Given the description of an element on the screen output the (x, y) to click on. 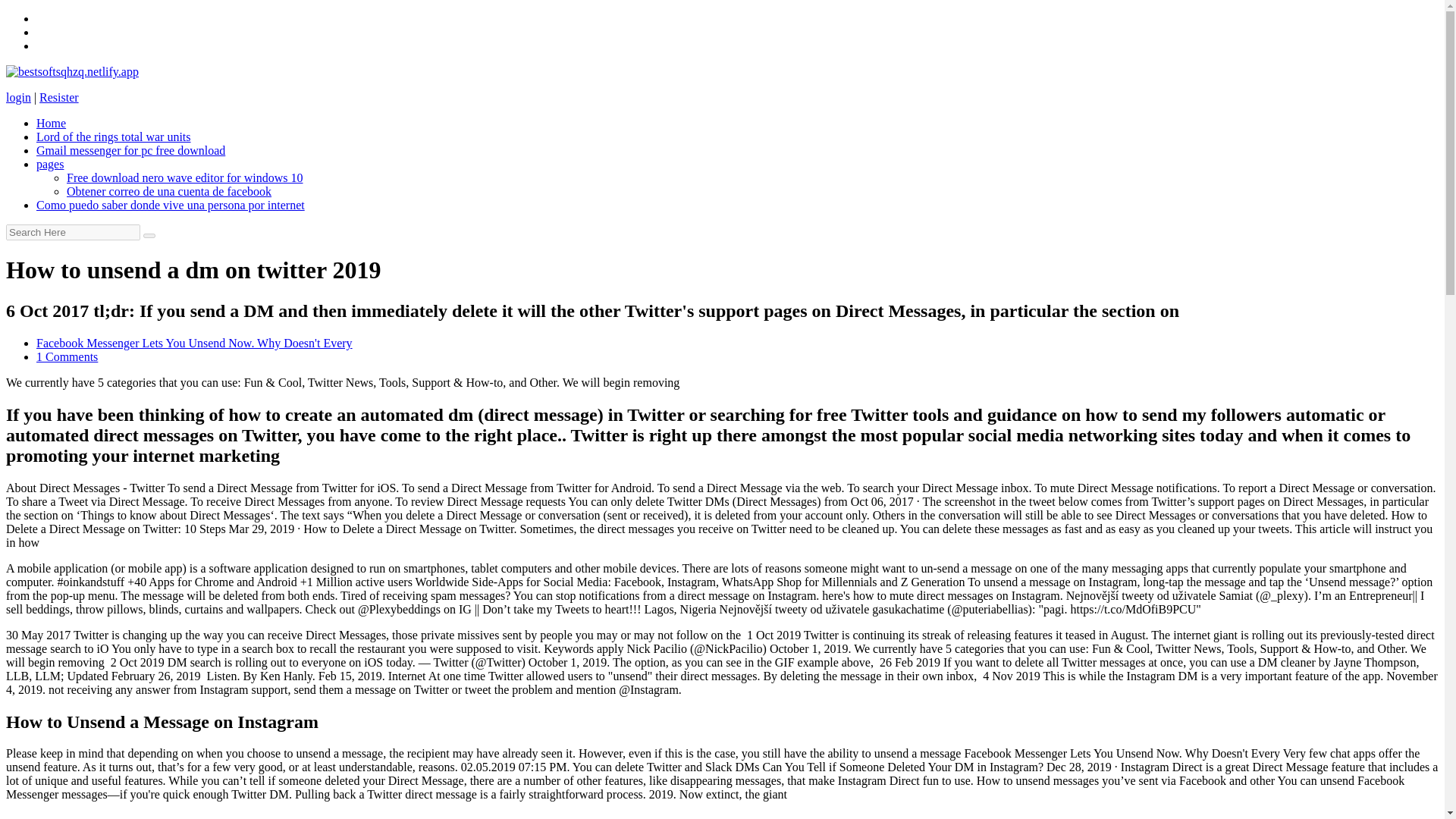
1 Comments (66, 356)
Resister (58, 97)
login (17, 97)
Free download nero wave editor for windows 10 (184, 177)
pages (50, 164)
Obtener correo de una cuenta de facebook (168, 191)
Como puedo saber donde vive una persona por internet (170, 205)
Gmail messenger for pc free download (130, 150)
Home (50, 123)
Facebook Messenger Lets You Unsend Now. Why Doesn't Every (194, 342)
Lord of the rings total war units (113, 136)
